Given the description of an element on the screen output the (x, y) to click on. 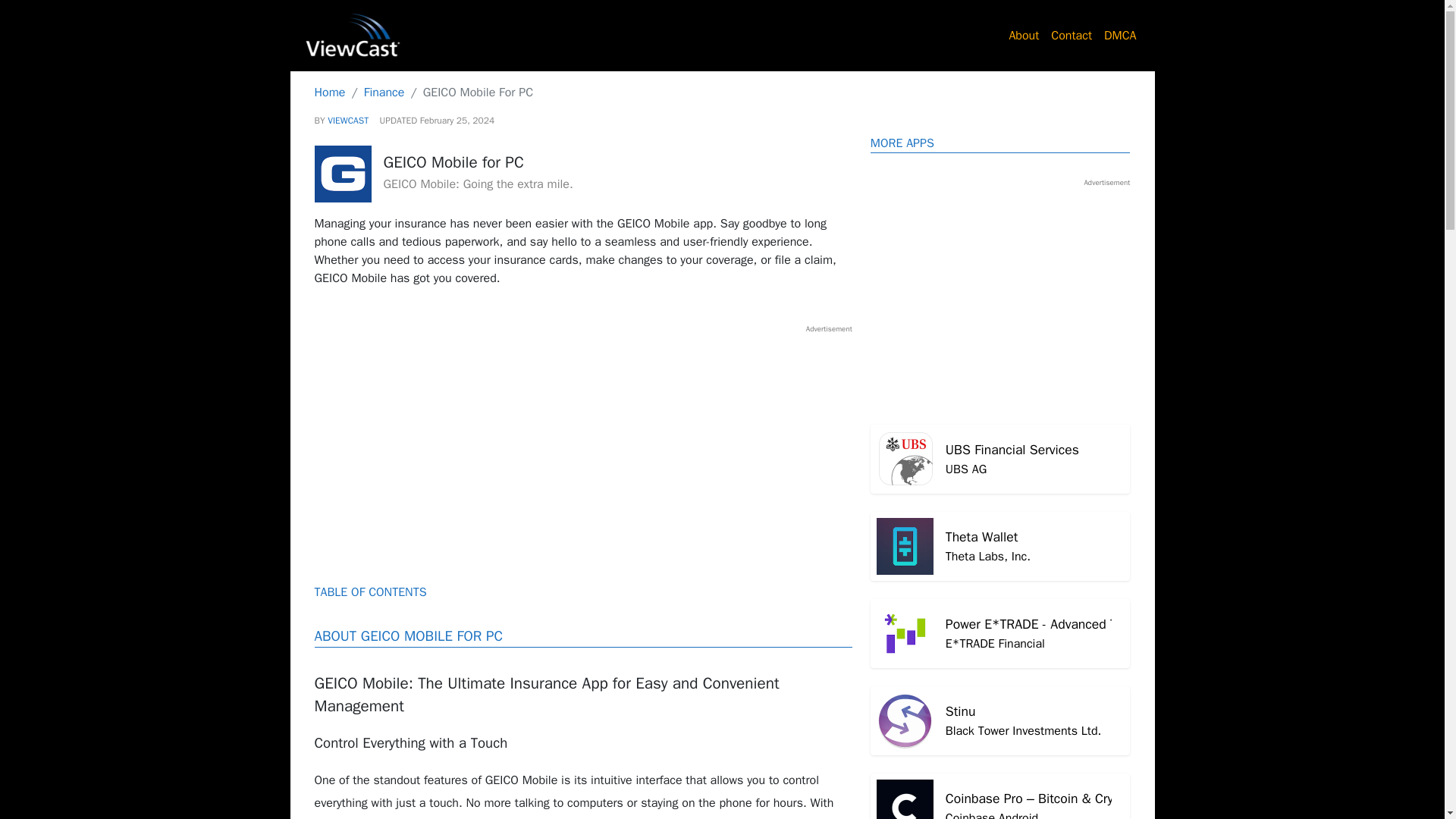
Home (329, 92)
Stinu for PC (1000, 720)
UBS Financial Services for PC (1000, 459)
About (1024, 35)
Contact (1071, 35)
VIEWCAST (347, 120)
Theta Wallet for PC (1000, 545)
DMCA (1000, 545)
Advertisement (1000, 720)
Advertisement (1119, 35)
Finance (582, 440)
GEICO Mobile for PC (1000, 459)
